Given the description of an element on the screen output the (x, y) to click on. 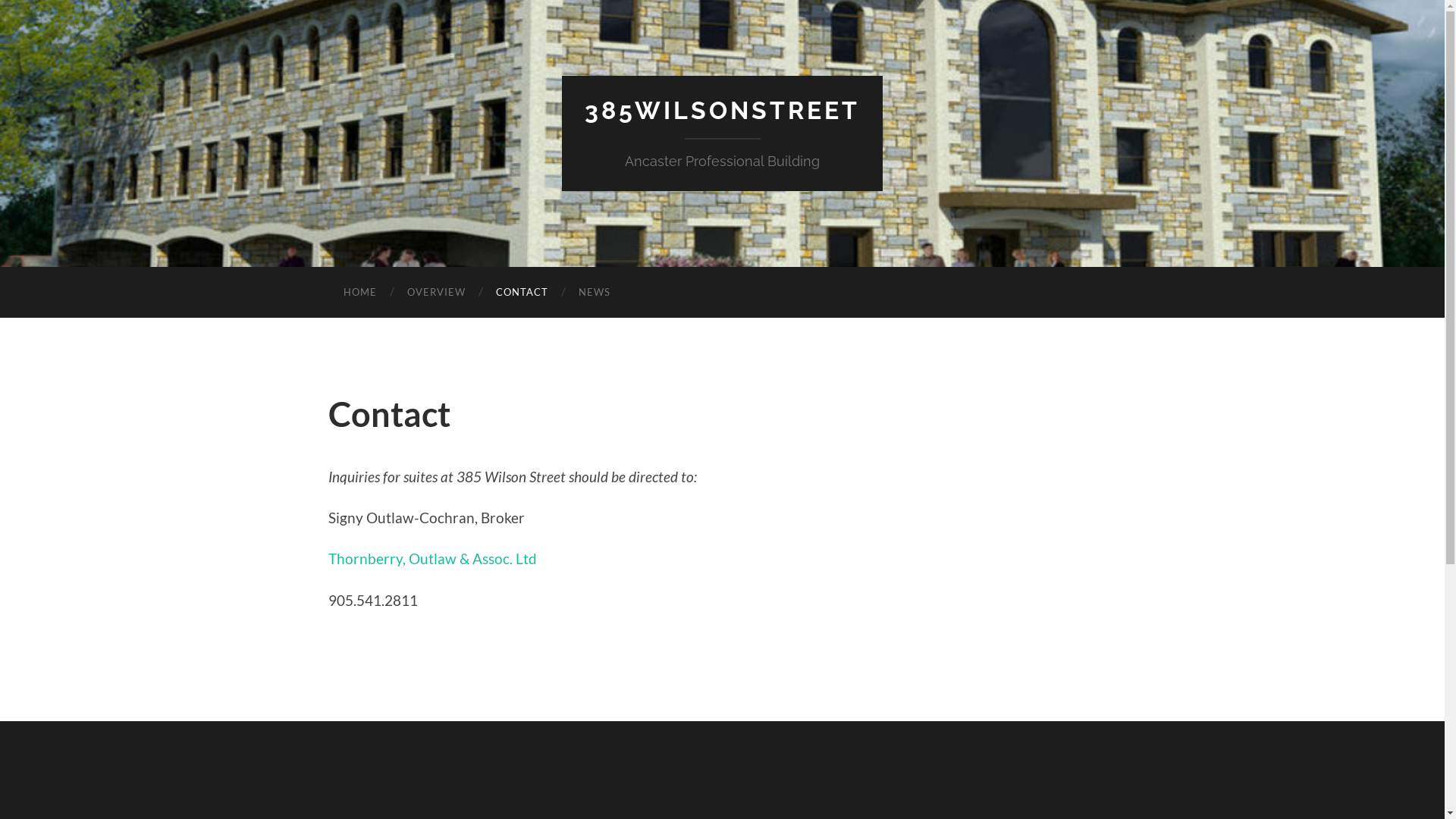
HOME Element type: text (359, 291)
OVERVIEW Element type: text (435, 291)
385WILSONSTREET Element type: text (721, 110)
Thornberry, Outlaw & Assoc. Ltd Element type: text (431, 558)
NEWS Element type: text (593, 291)
CONTACT Element type: text (521, 291)
